Given the description of an element on the screen output the (x, y) to click on. 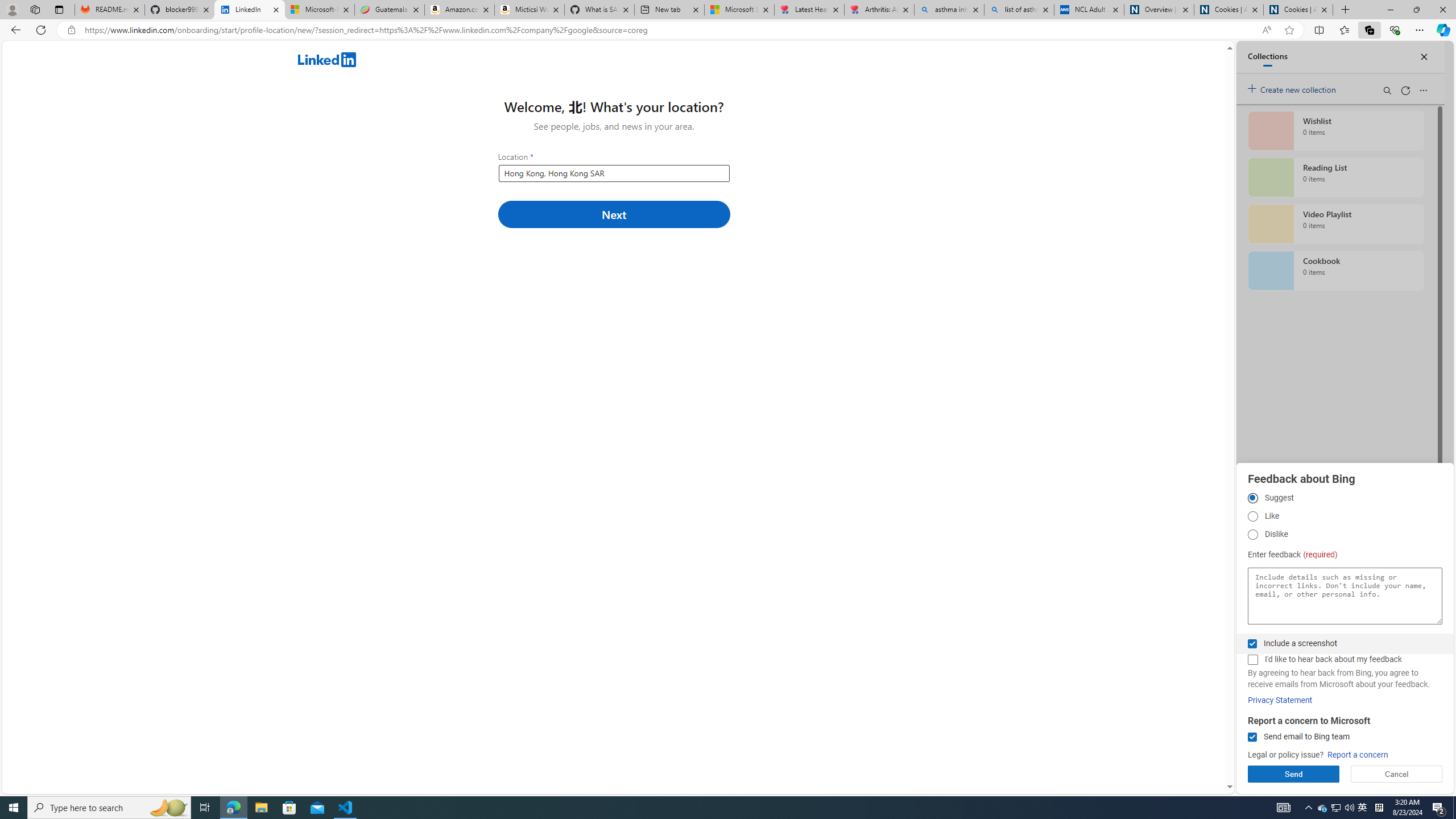
Cancel (1396, 773)
Suggest (1252, 498)
Report a concern (1358, 755)
Send (1293, 773)
